Given the description of an element on the screen output the (x, y) to click on. 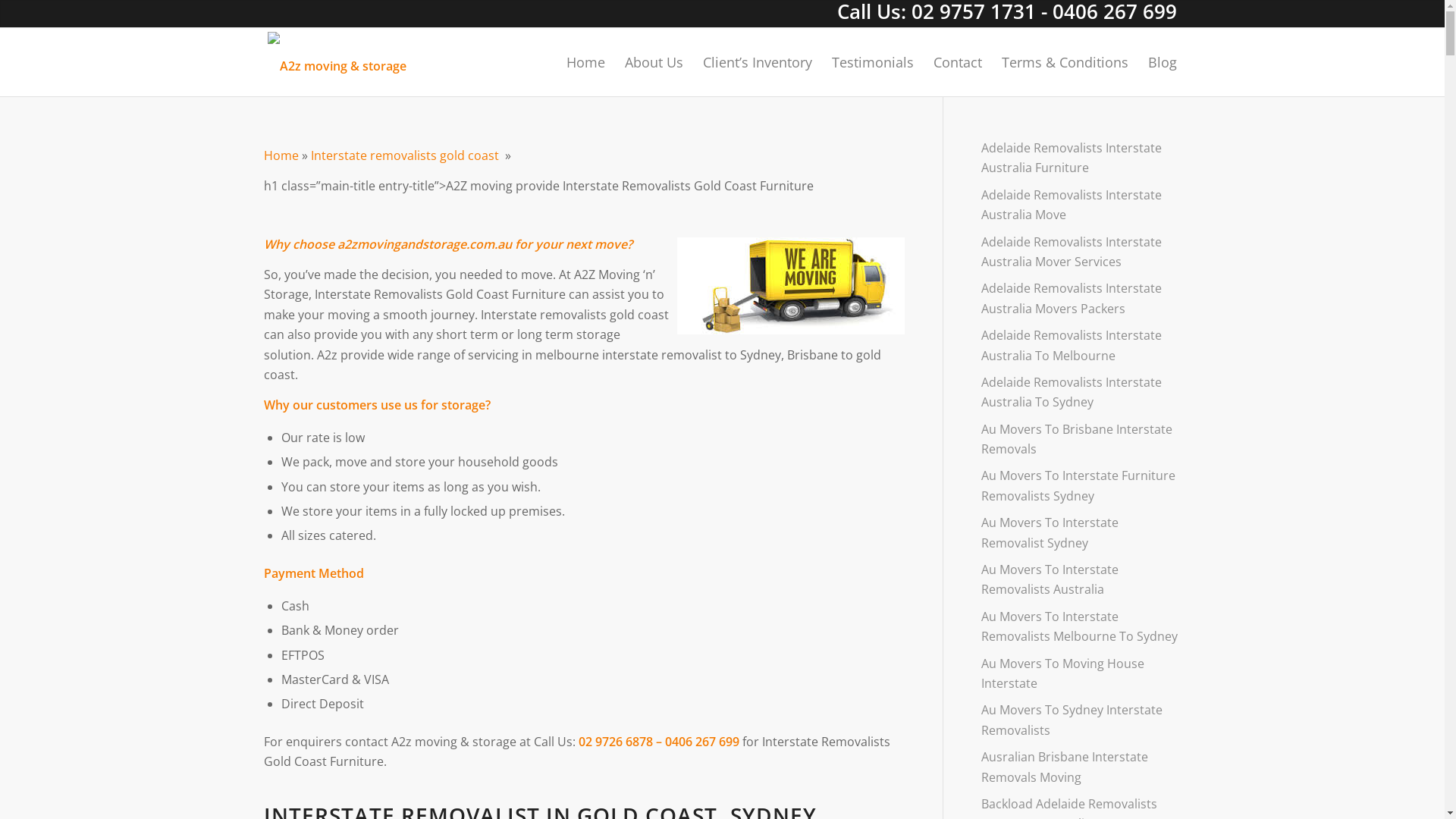
Home Element type: text (585, 62)
Au Movers To Sydney Interstate Removalists Element type: text (1081, 719)
Terms & Conditions Element type: text (1064, 62)
Adelaide Removalists Interstate Australia To Melbourne Element type: text (1081, 345)
Adelaide Removalists Interstate Australia To Sydney Element type: text (1081, 392)
About Us Element type: text (654, 62)
Au Movers To Interstate Removalists Melbourne To Sydney Element type: text (1081, 626)
Contact Element type: text (957, 62)
Au Movers To Brisbane Interstate Removals Element type: text (1081, 439)
Au Movers To Moving House Interstate Element type: text (1081, 673)
Adelaide Removalists Interstate Australia Move Element type: text (1081, 205)
Au Movers To Interstate Removalist Sydney Element type: text (1081, 532)
Adelaide Removalists Interstate Australia Mover Services Element type: text (1081, 252)
Adelaide Removalists Interstate Australia Furniture Element type: text (1081, 158)
Adelaide Removalists Interstate Australia Movers Packers Element type: text (1081, 298)
Blog Element type: text (1157, 62)
Ausralian Brisbane Interstate Removals Moving Element type: text (1081, 766)
Au Movers To Interstate Removalists Australia Element type: text (1081, 579)
Testimonials Element type: text (872, 62)
Home Element type: text (280, 155)
Interstate removalists gold coast   Element type: text (407, 155)
Au Movers To Interstate Furniture Removalists Sydney Element type: text (1081, 485)
